Given the description of an element on the screen output the (x, y) to click on. 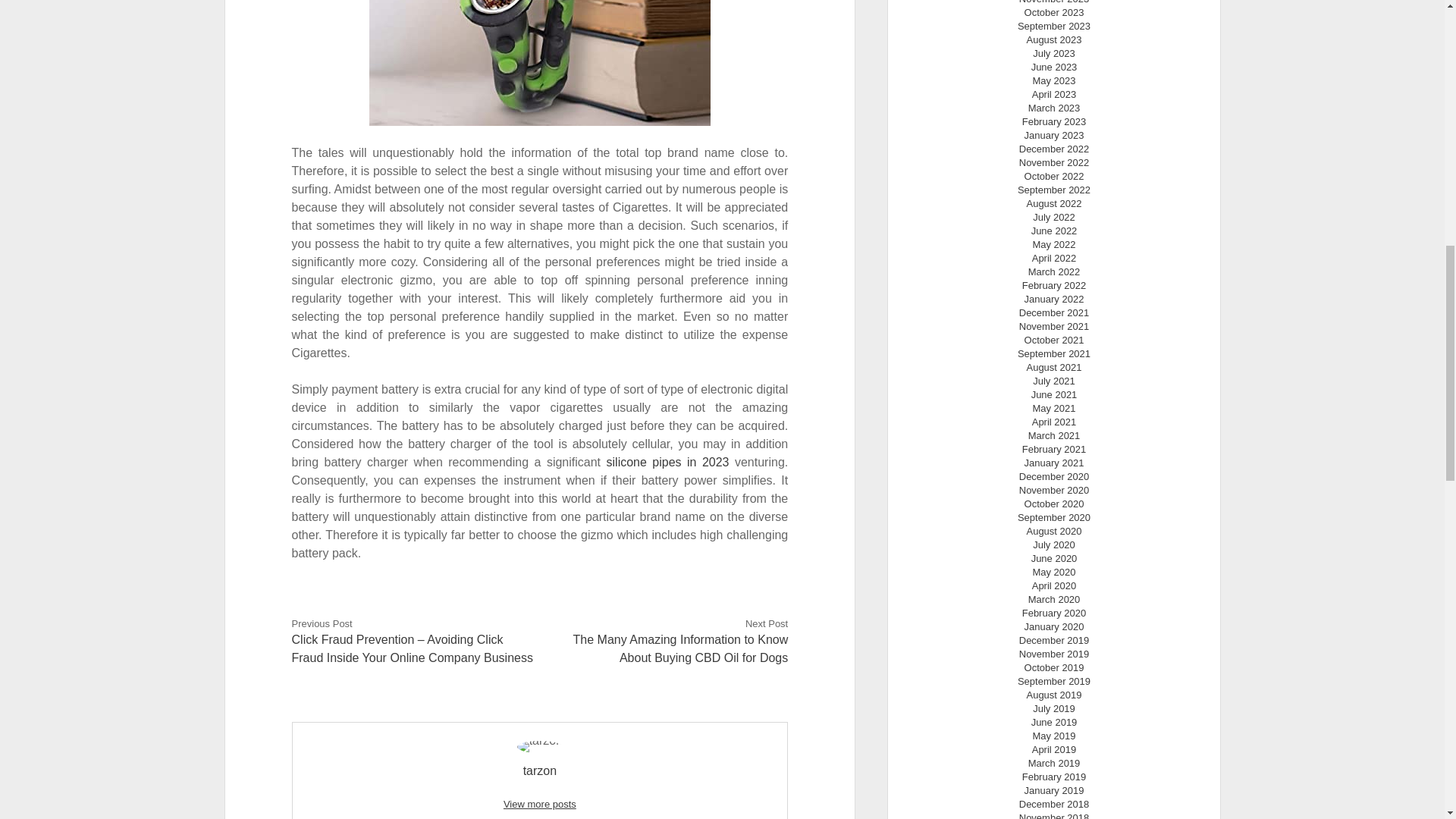
October 2023 (1054, 12)
November 2023 (1054, 2)
June 2023 (1053, 66)
silicone pipes in 2023 (668, 461)
View more posts (539, 803)
August 2023 (1053, 39)
July 2023 (1053, 52)
September 2023 (1053, 25)
